Given the description of an element on the screen output the (x, y) to click on. 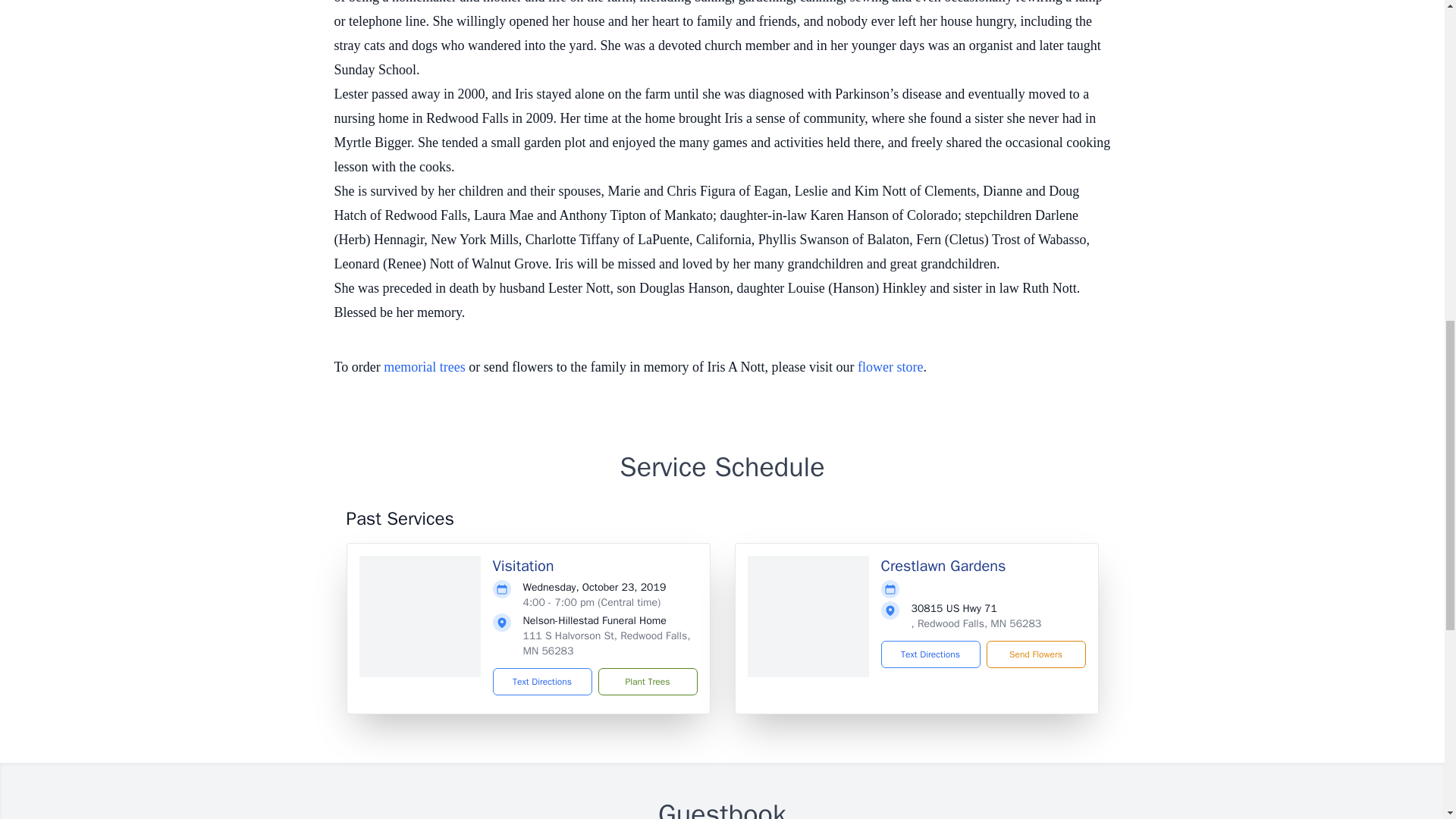
Text Directions (542, 681)
Text Directions (929, 654)
, Redwood Falls, MN 56283 (976, 623)
Send Flowers (1034, 654)
Plant Trees (646, 681)
111 S Halvorson St, Redwood Falls, MN 56283 (606, 643)
flower store (890, 366)
memorial trees (424, 366)
